Given the description of an element on the screen output the (x, y) to click on. 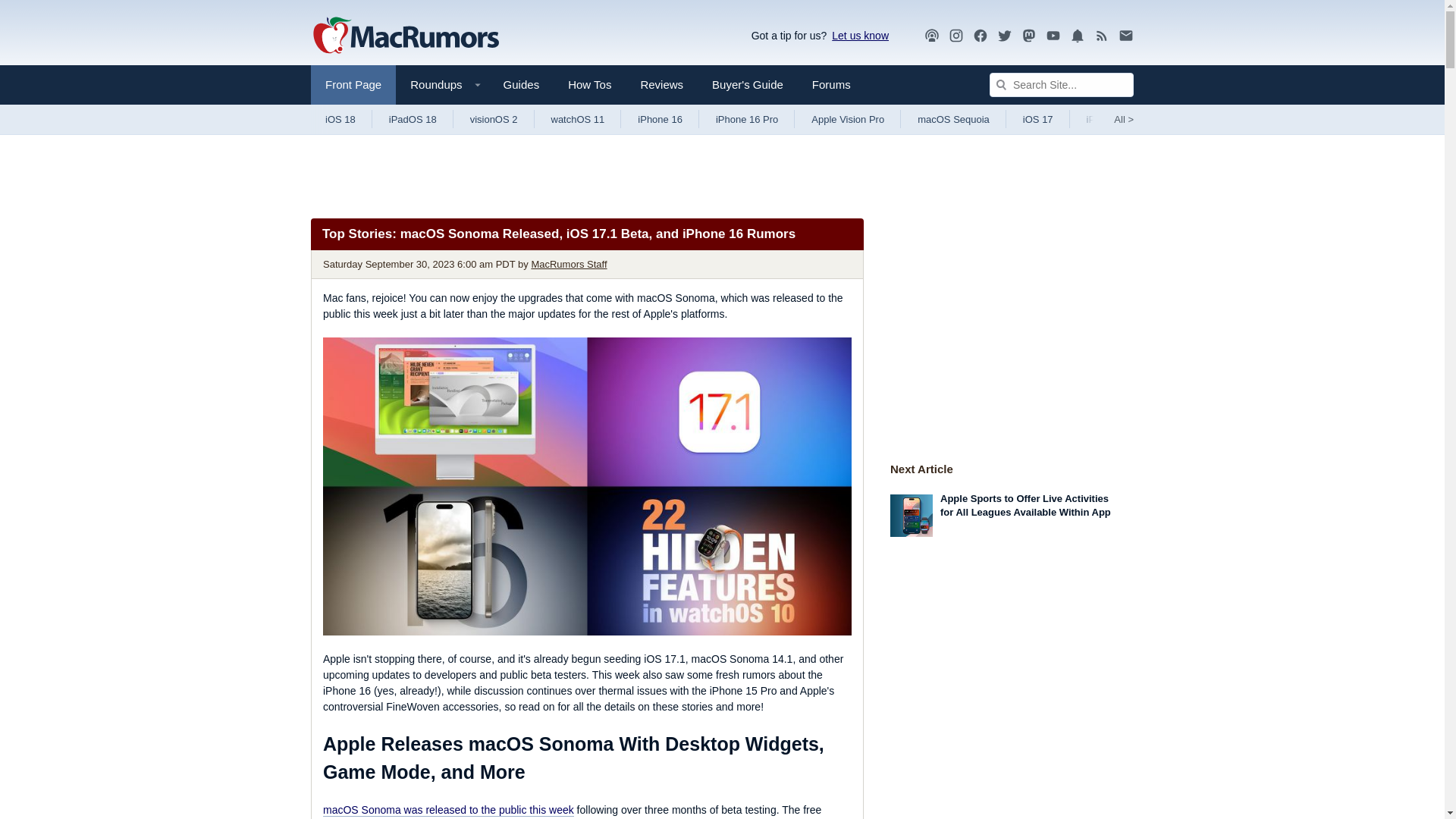
Twitter (1004, 35)
Mastodon (1029, 35)
MacRumors on Instagram (956, 35)
MacRumors Show (931, 35)
Newsletter (1126, 35)
Mastodon (1029, 35)
MacRumors on Twitter (1004, 35)
Reviews (661, 84)
Notifications (1077, 35)
Buyer's Guide (747, 84)
